Given the description of an element on the screen output the (x, y) to click on. 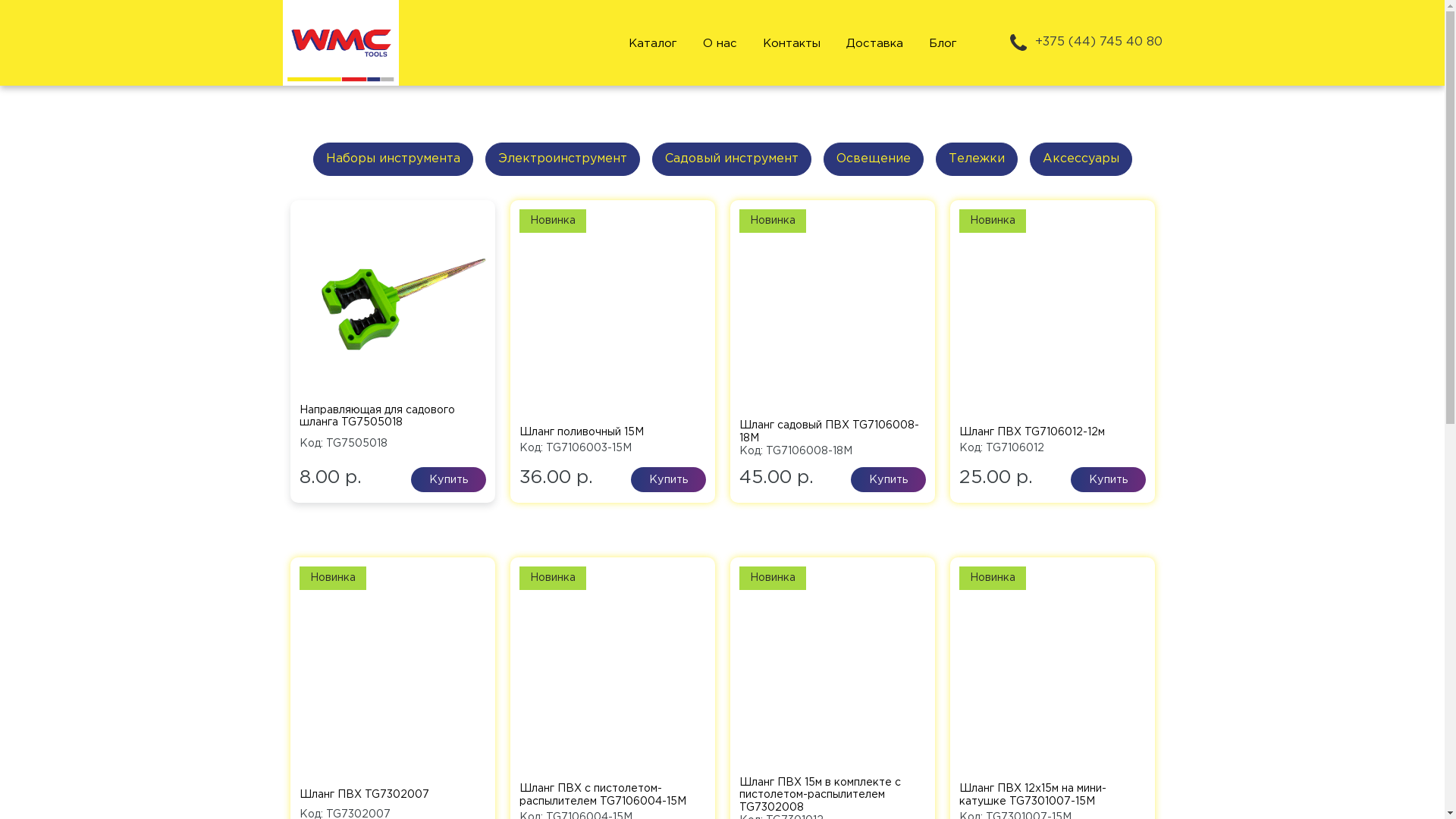
+375 (44) 745 40 80 Element type: text (1084, 42)
